Given the description of an element on the screen output the (x, y) to click on. 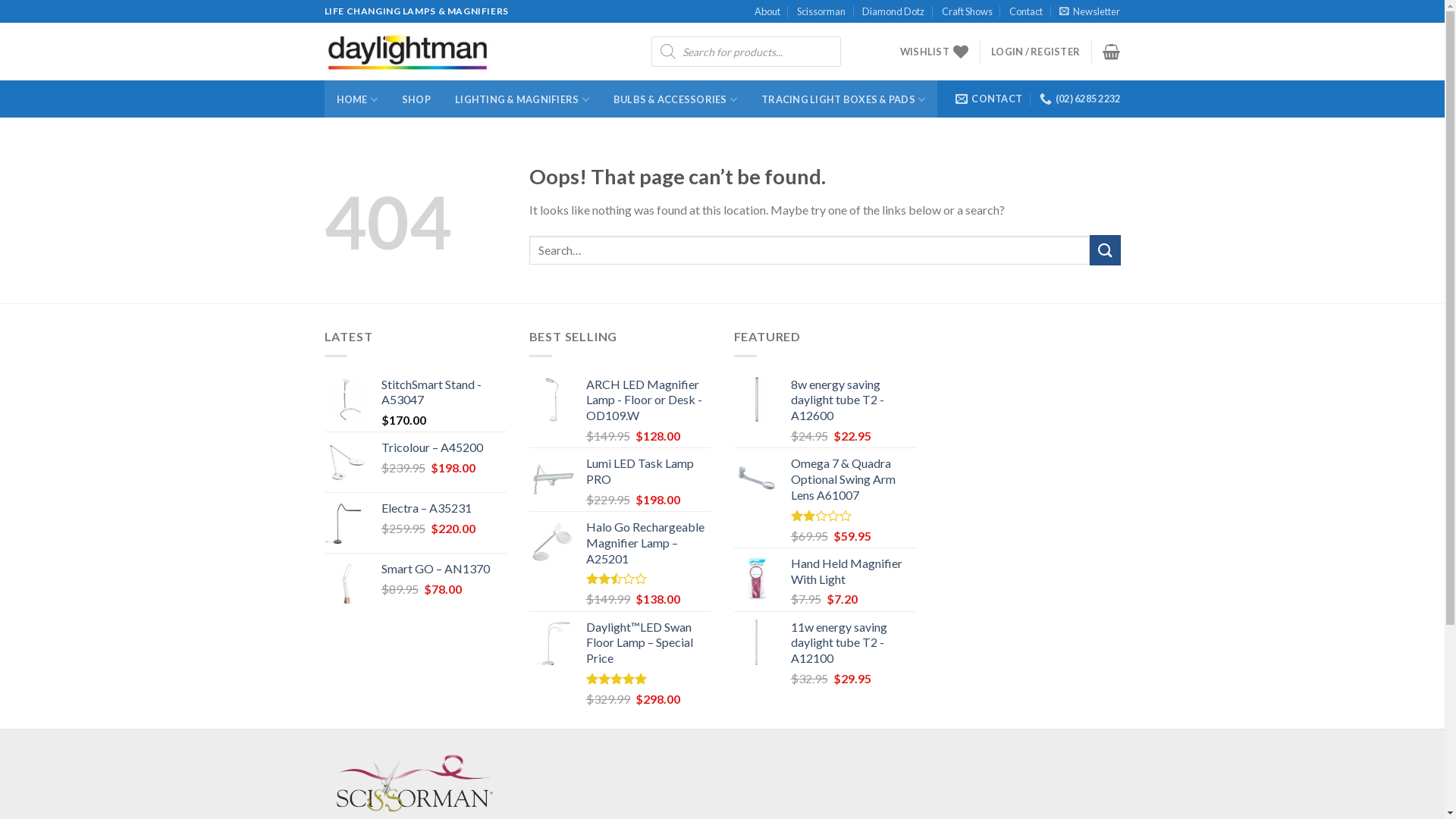
BULBS & ACCESSORIES Element type: text (675, 98)
Craft Shows Element type: text (966, 11)
11w energy saving daylight tube T2 - A12100 Element type: text (852, 642)
CONTACT Element type: text (988, 98)
StitchSmart Stand - A53047 Element type: text (442, 392)
Lumi LED Task Lamp PRO Element type: text (647, 471)
Cart Element type: hover (1111, 51)
Scissorman Element type: text (821, 11)
Contact Element type: text (1025, 11)
ARCH LED Magnifier Lamp - Floor or Desk - OD109.W Element type: text (647, 399)
LOGIN / REGISTER Element type: text (1035, 51)
Newsletter Element type: text (1089, 11)
8w energy saving daylight tube T2 - A12600 Element type: text (852, 399)
WISHLIST Element type: text (934, 51)
Hand Held Magnifier With Light Element type: text (852, 571)
SHOP Element type: text (415, 98)
About Element type: text (767, 11)
TRACING LIGHT BOXES & PADS Element type: text (843, 98)
Daylightman - Life Changing Lamps & Magnifiers Element type: hover (476, 51)
Diamond Dotz Element type: text (893, 11)
(02) 6285 2232 Element type: text (1079, 98)
Omega 7 & Quadra Optional Swing Arm Lens A61007 Element type: text (852, 478)
HOME Element type: text (356, 98)
LIGHTING & MAGNIFIERS Element type: text (521, 98)
